Given the description of an element on the screen output the (x, y) to click on. 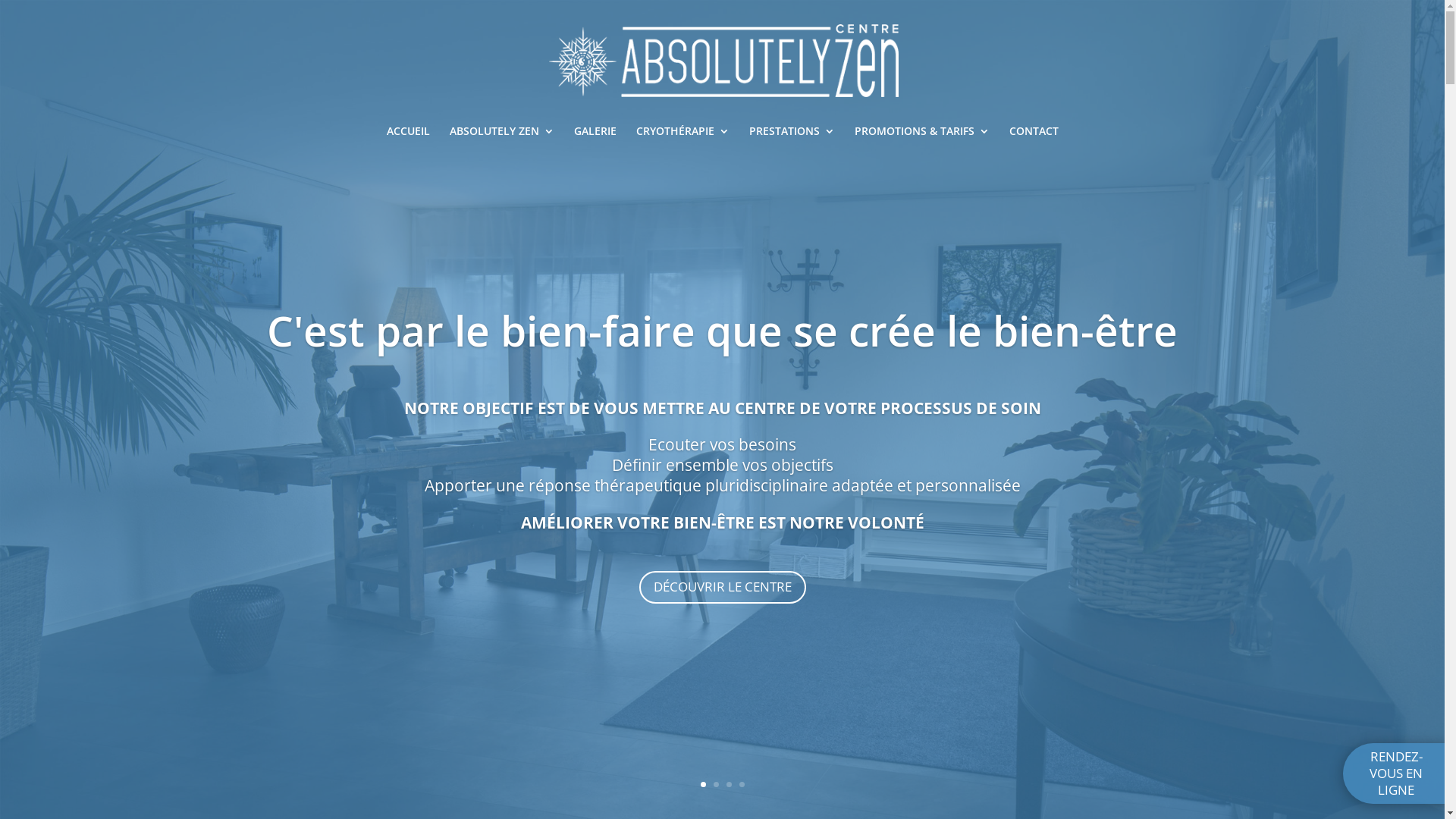
PROMOTIONS & TARIFS Element type: text (920, 136)
ABSOLUTELY ZEN Element type: text (500, 136)
4 Element type: text (740, 784)
1 Element type: text (703, 784)
3 Element type: text (728, 784)
CONTACT Element type: text (1032, 136)
RENDEZ-VOUS EN LIGNE Element type: text (1396, 773)
ACCUEIL Element type: text (407, 136)
PRESTATIONS Element type: text (791, 136)
GALERIE Element type: text (594, 136)
2 Element type: text (715, 784)
